Given the description of an element on the screen output the (x, y) to click on. 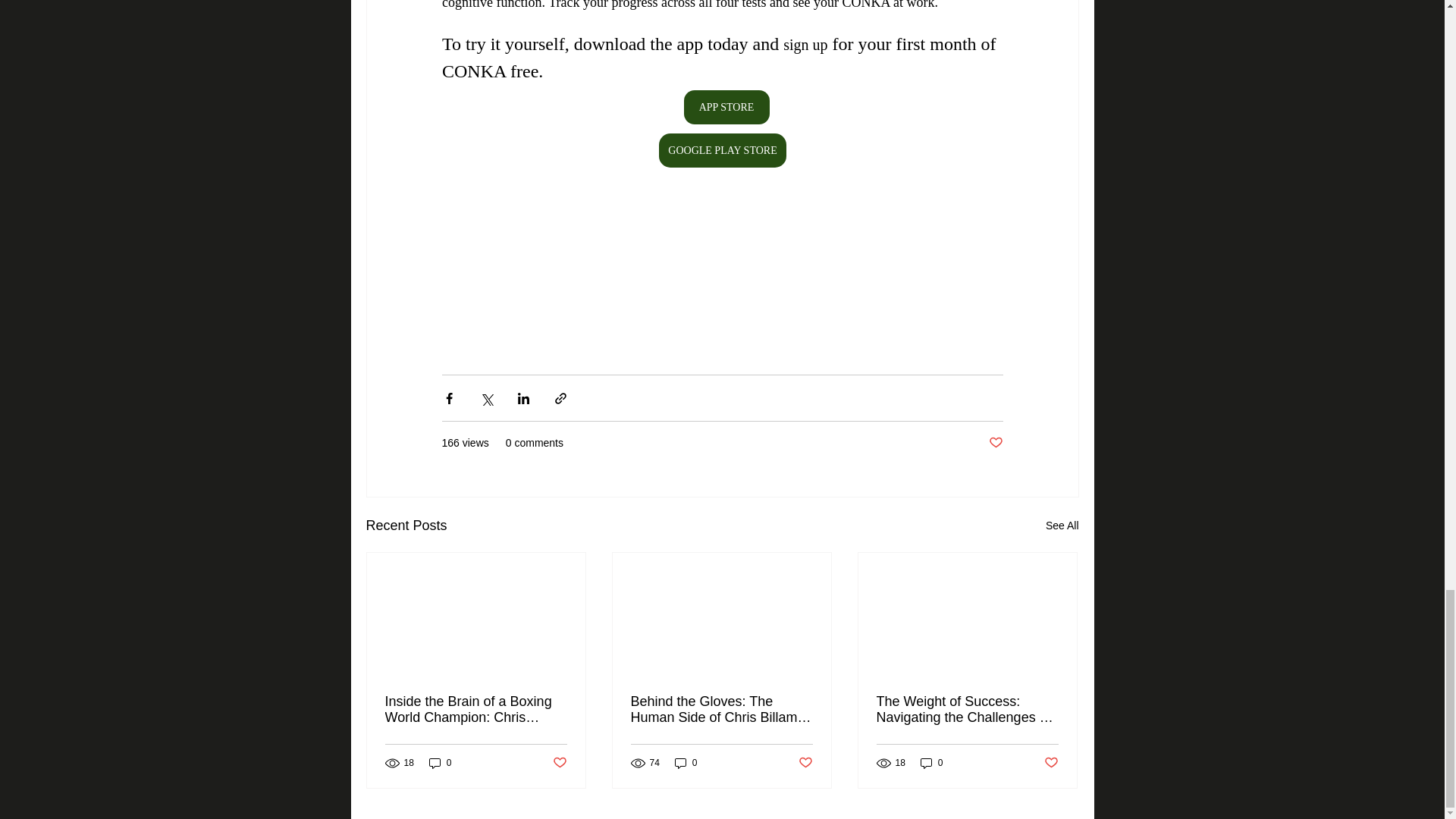
0 (685, 762)
0 (931, 762)
Post not marked as liked (995, 442)
GOOGLE PLAY STORE (722, 150)
APP STORE (725, 107)
Post not marked as liked (1050, 763)
0 (440, 762)
See All (1061, 526)
Post not marked as liked (558, 763)
Post not marked as liked (804, 763)
